Given the description of an element on the screen output the (x, y) to click on. 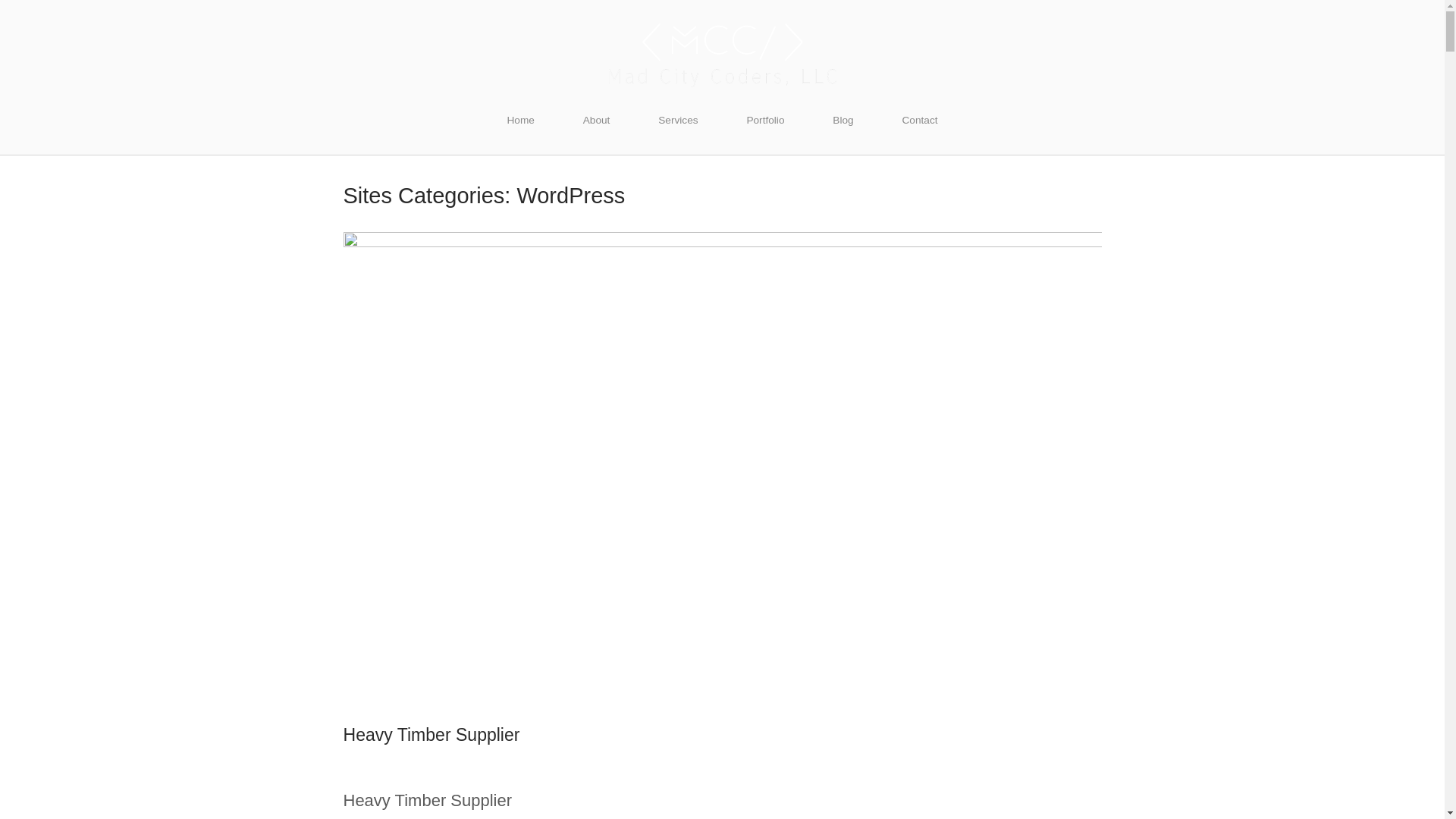
About (596, 120)
Contact (919, 120)
Heavy Timber Supplier (430, 734)
Home (519, 120)
Portfolio (764, 120)
Home (721, 53)
Blog (842, 120)
Services (677, 120)
